Given the description of an element on the screen output the (x, y) to click on. 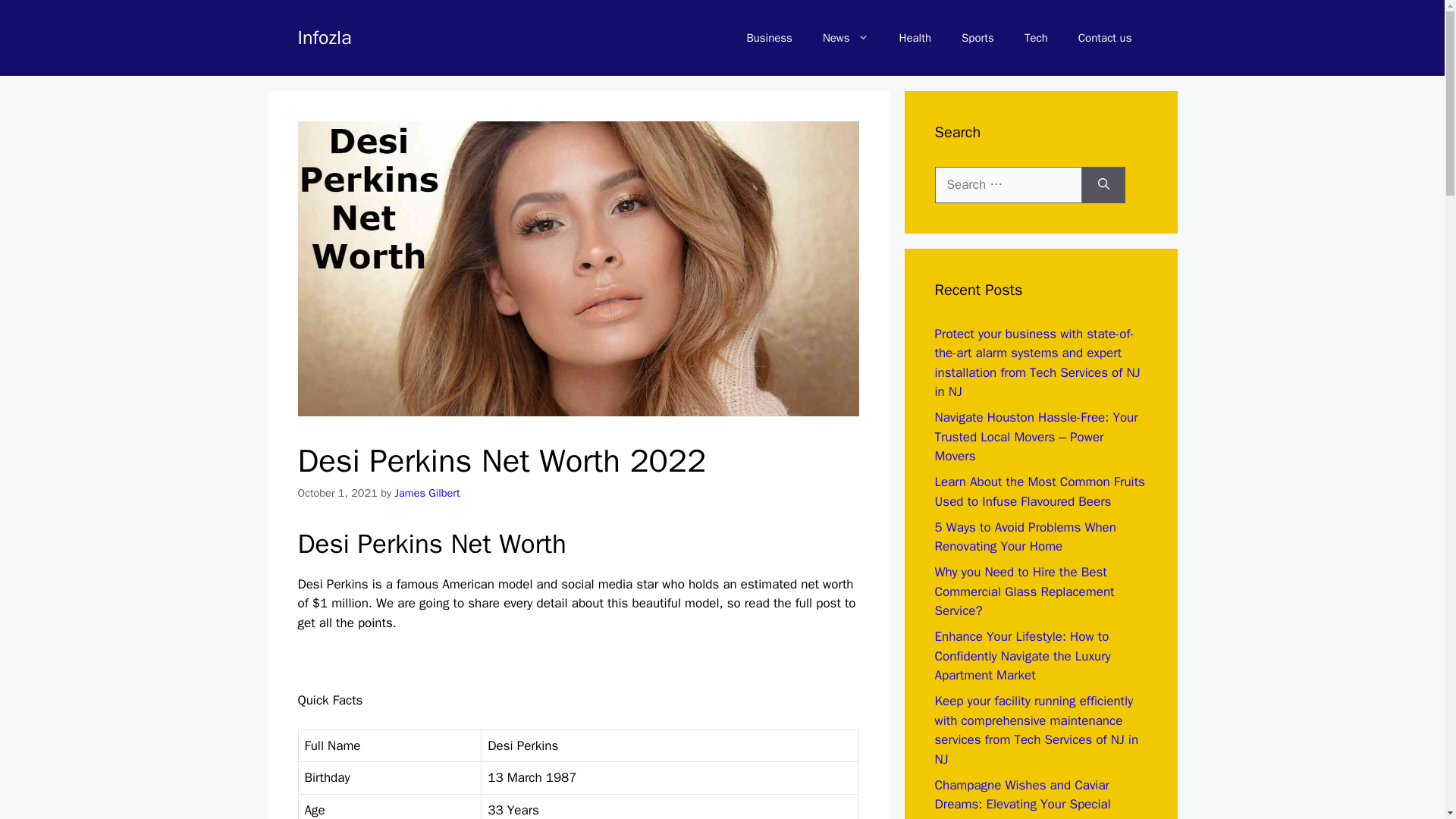
Contact us (1104, 37)
View all posts by James Gilbert (427, 492)
Business (769, 37)
Infozla (323, 37)
News (845, 37)
Health (915, 37)
Tech (1035, 37)
Search for: (1007, 185)
